Given the description of an element on the screen output the (x, y) to click on. 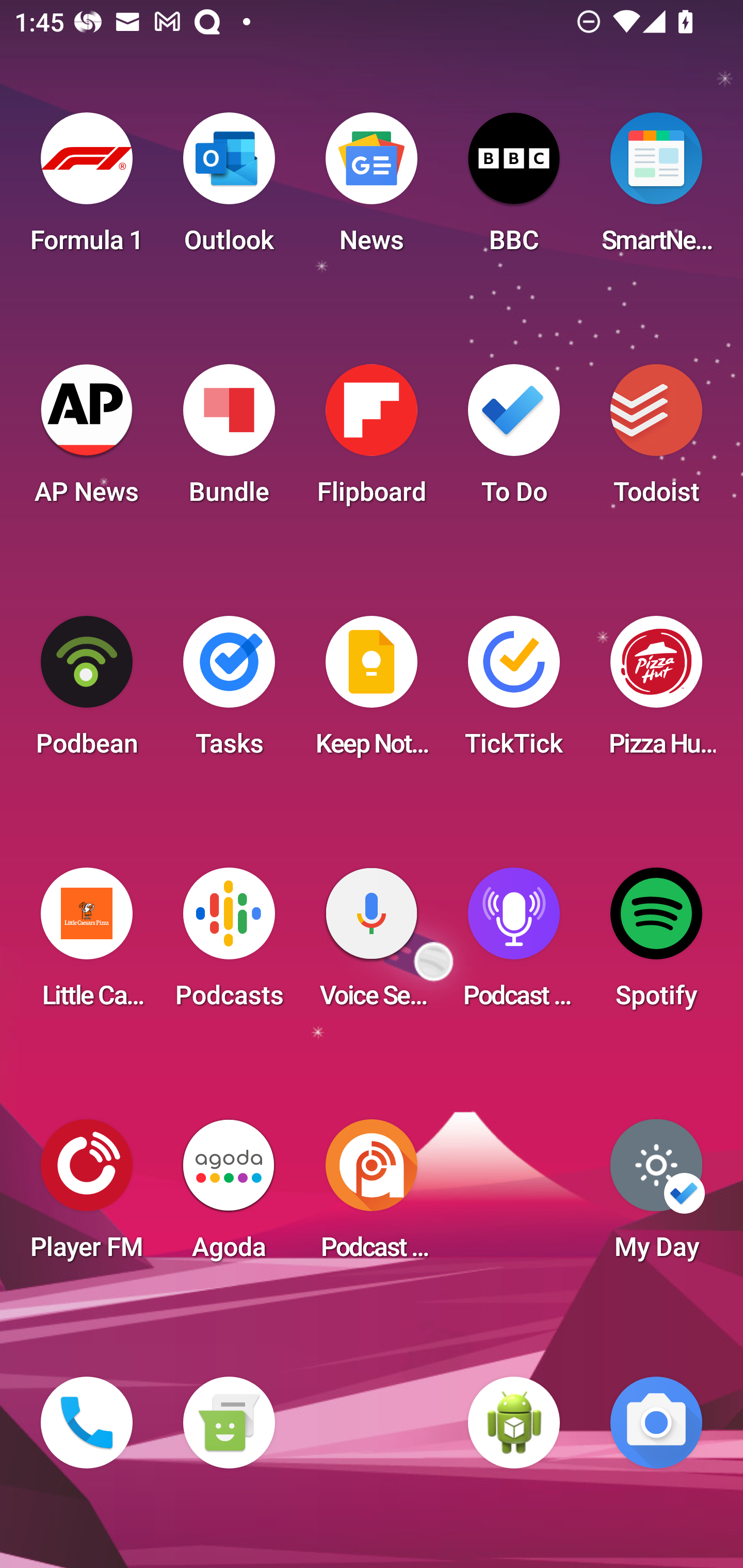
Formula 1 (86, 188)
Outlook (228, 188)
News (371, 188)
BBC (513, 188)
SmartNews (656, 188)
AP News (86, 440)
Bundle (228, 440)
Flipboard (371, 440)
To Do (513, 440)
Todoist (656, 440)
Podbean (86, 692)
Tasks (228, 692)
Keep Notes (371, 692)
TickTick (513, 692)
Pizza Hut HK & Macau (656, 692)
Little Caesars Pizza (86, 943)
Podcasts (228, 943)
Voice Search (371, 943)
Podcast Player (513, 943)
Spotify (656, 943)
Player FM (86, 1195)
Agoda (228, 1195)
Podcast Addict (371, 1195)
My Day (656, 1195)
Phone (86, 1422)
Messaging (228, 1422)
WebView Browser Tester (513, 1422)
Camera (656, 1422)
